Given the description of an element on the screen output the (x, y) to click on. 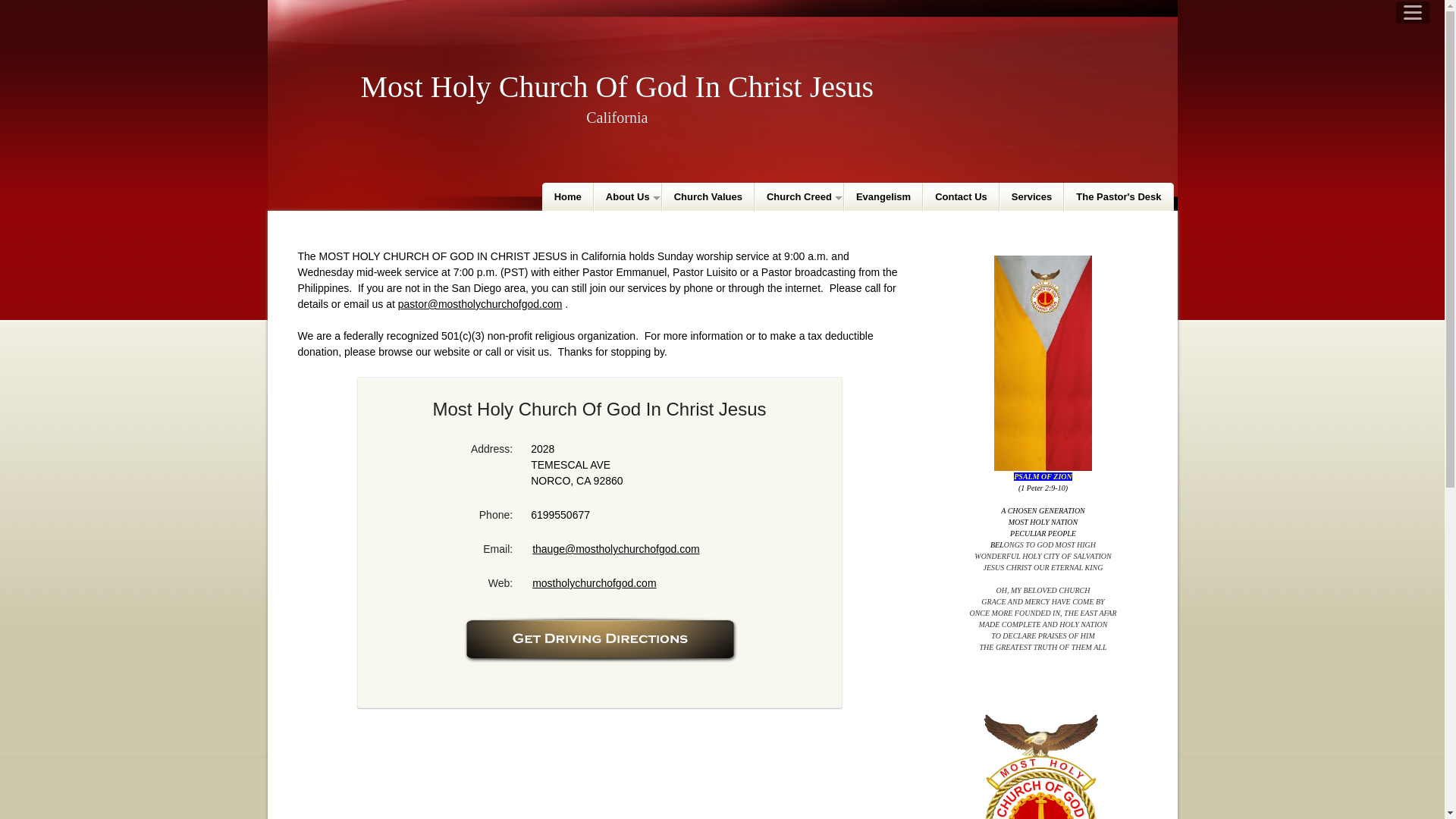
Contact Us (960, 196)
Home (567, 196)
Evangelism (883, 196)
About Us (628, 196)
Church Values (708, 196)
Church Creed (799, 196)
